Given the description of an element on the screen output the (x, y) to click on. 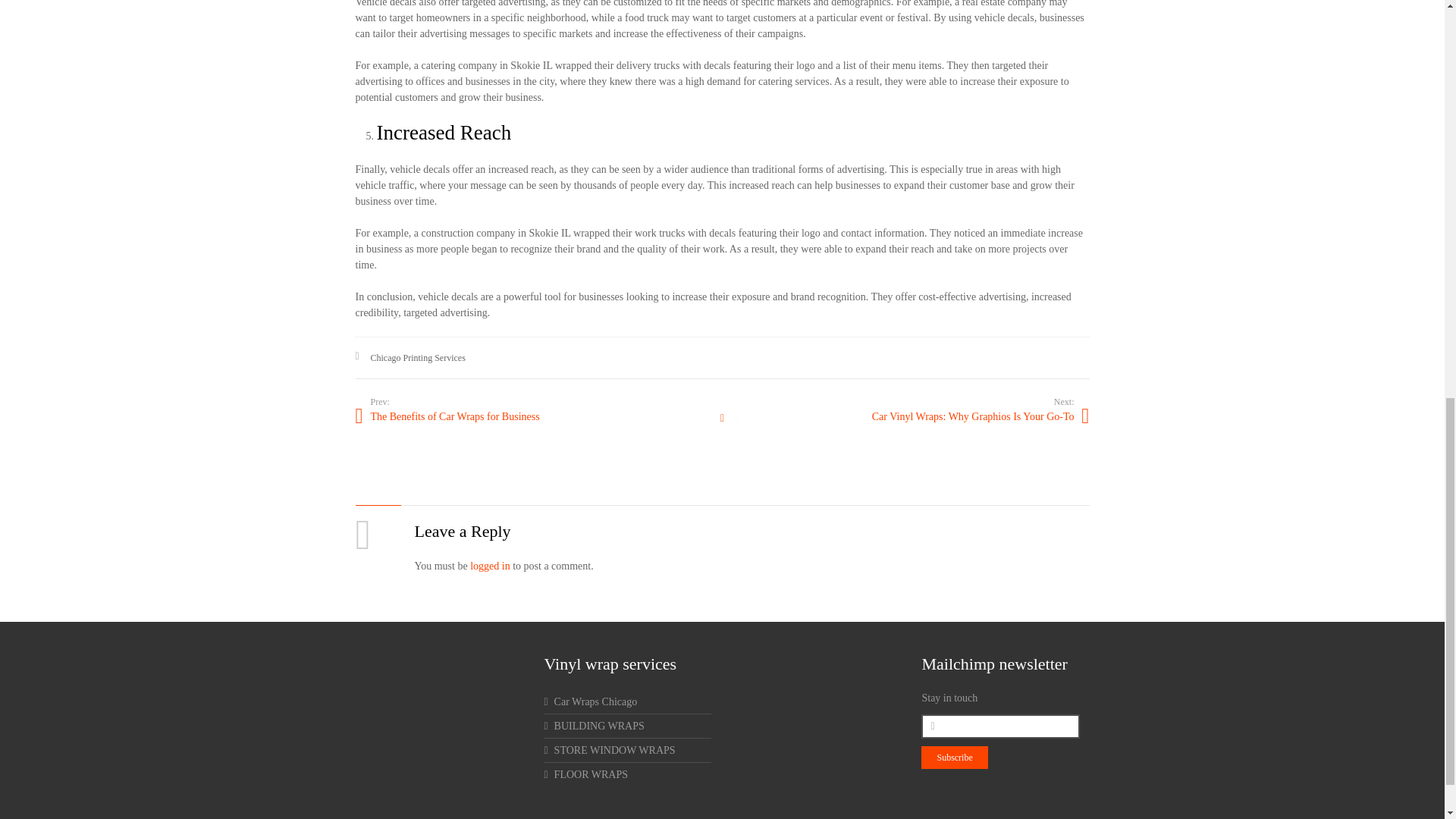
Car Wraps Chicago (590, 701)
logged in (490, 565)
Subscribe (954, 757)
BUILDING WRAPS (593, 726)
Chicago Printing Services (416, 357)
All Posts (721, 418)
STORE WINDOW WRAPS (609, 749)
See all entries (721, 418)
Car Vinyl Wraps: Why Graphios Is Your Go-To (905, 416)
FLOOR WRAPS (585, 774)
The Benefits of Car Wraps for Business (538, 416)
